Given the description of an element on the screen output the (x, y) to click on. 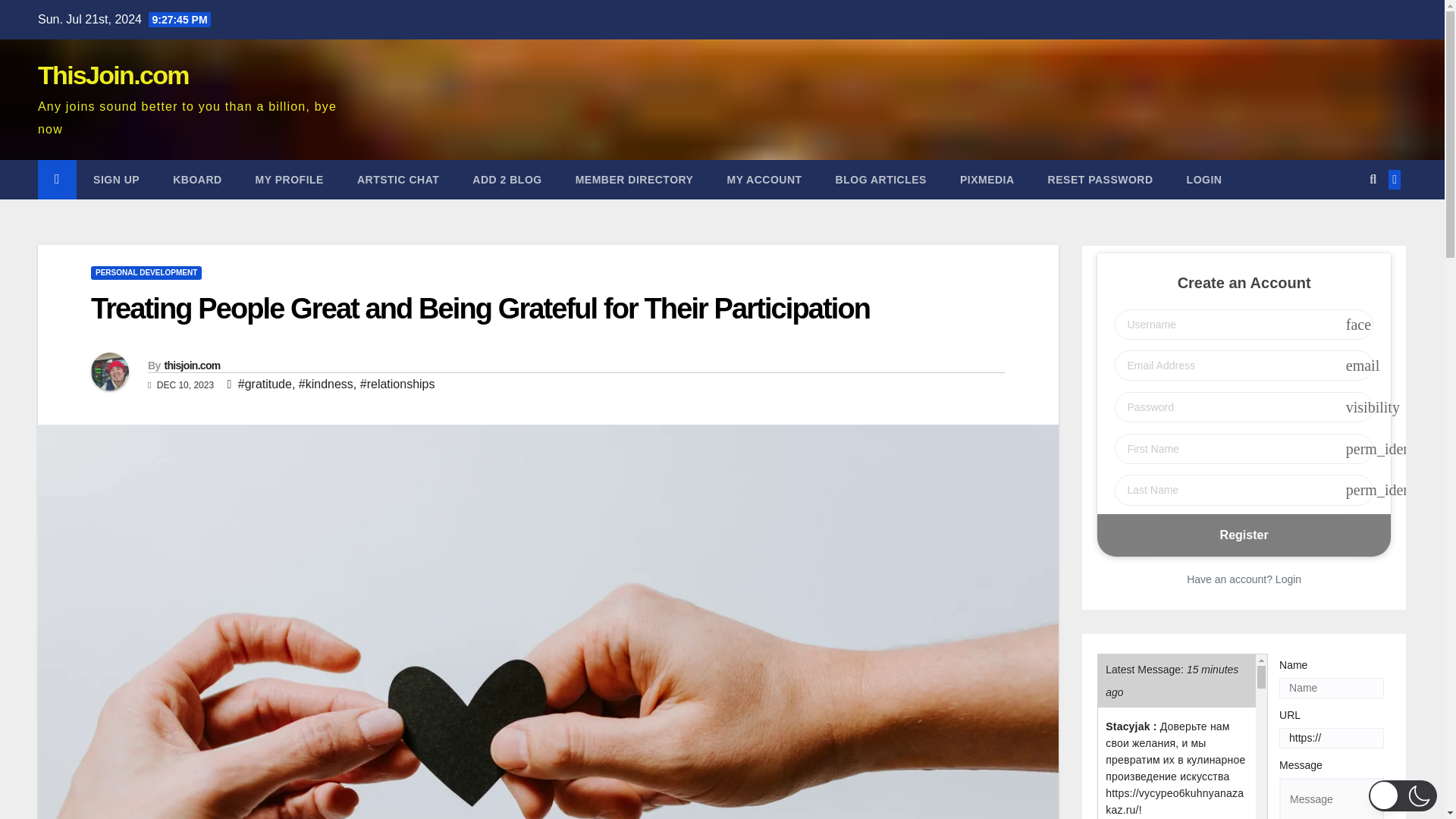
PIXMEDIA (986, 179)
PERSONAL DEVELOPMENT (146, 273)
Add 2 Blog (506, 179)
KBOARD (196, 179)
ArtsTic Chat (397, 179)
Kboard (196, 179)
ADD 2 BLOG (506, 179)
Posted 15 minutes ago (1131, 726)
Sign Up (116, 179)
My Profile (289, 179)
thisjoin.com (191, 365)
MY PROFILE (289, 179)
Blog Articles (880, 179)
